Given the description of an element on the screen output the (x, y) to click on. 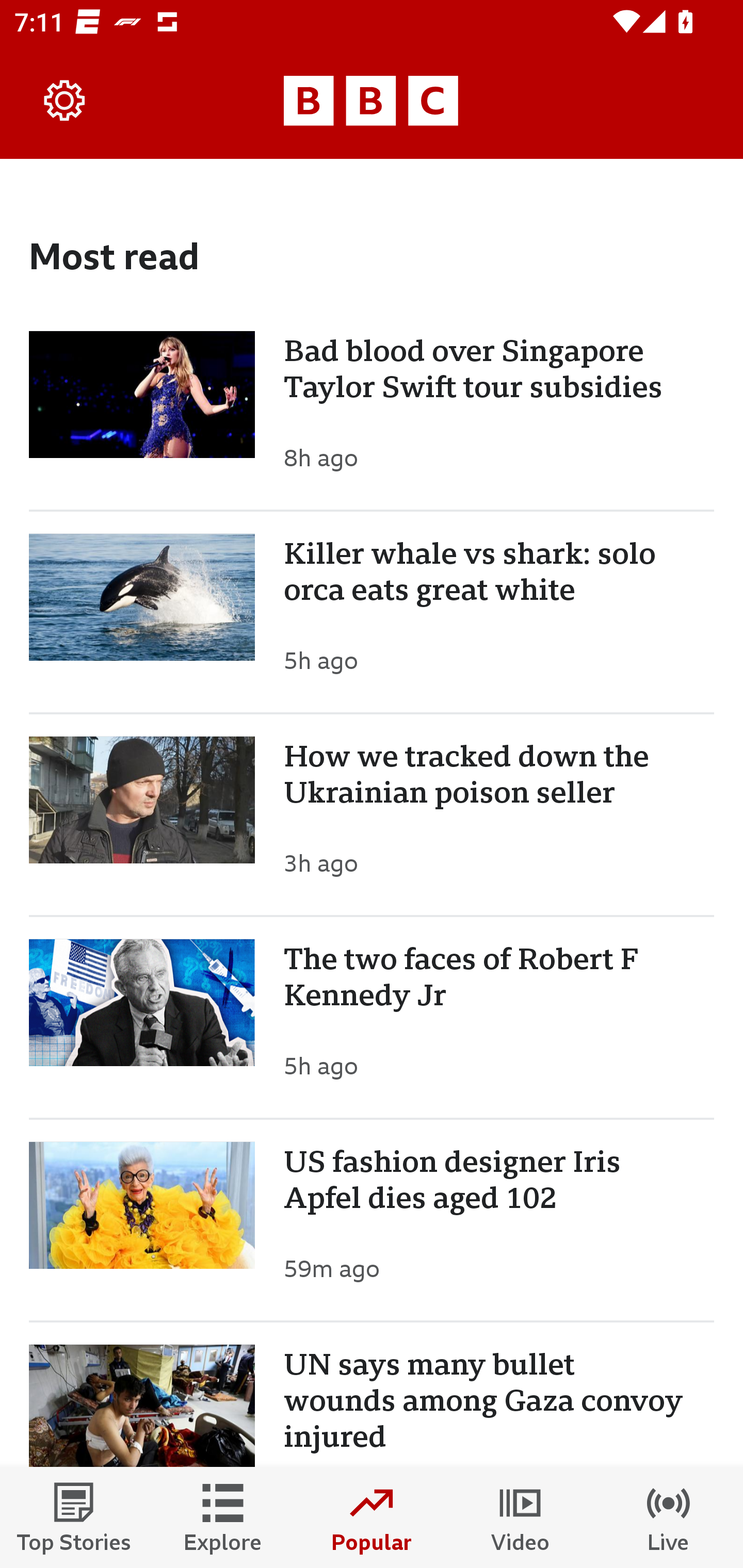
Settings (64, 100)
Top Stories (74, 1517)
Explore (222, 1517)
Video (519, 1517)
Live (668, 1517)
